Given the description of an element on the screen output the (x, y) to click on. 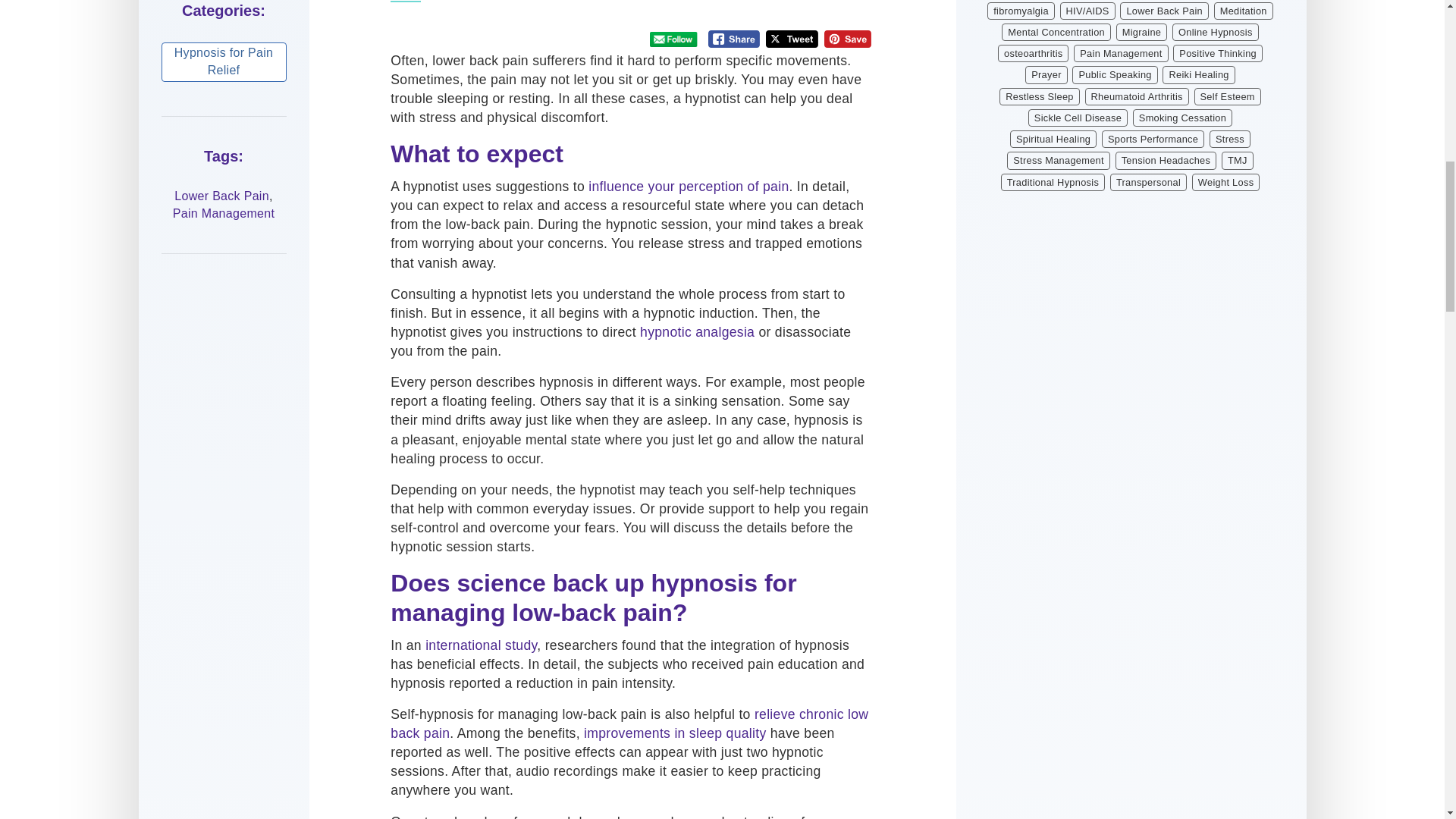
Hypnosis for Pain Relief (222, 61)
Tweet (791, 38)
Pin Share (847, 38)
Facebook Share (733, 38)
